Given the description of an element on the screen output the (x, y) to click on. 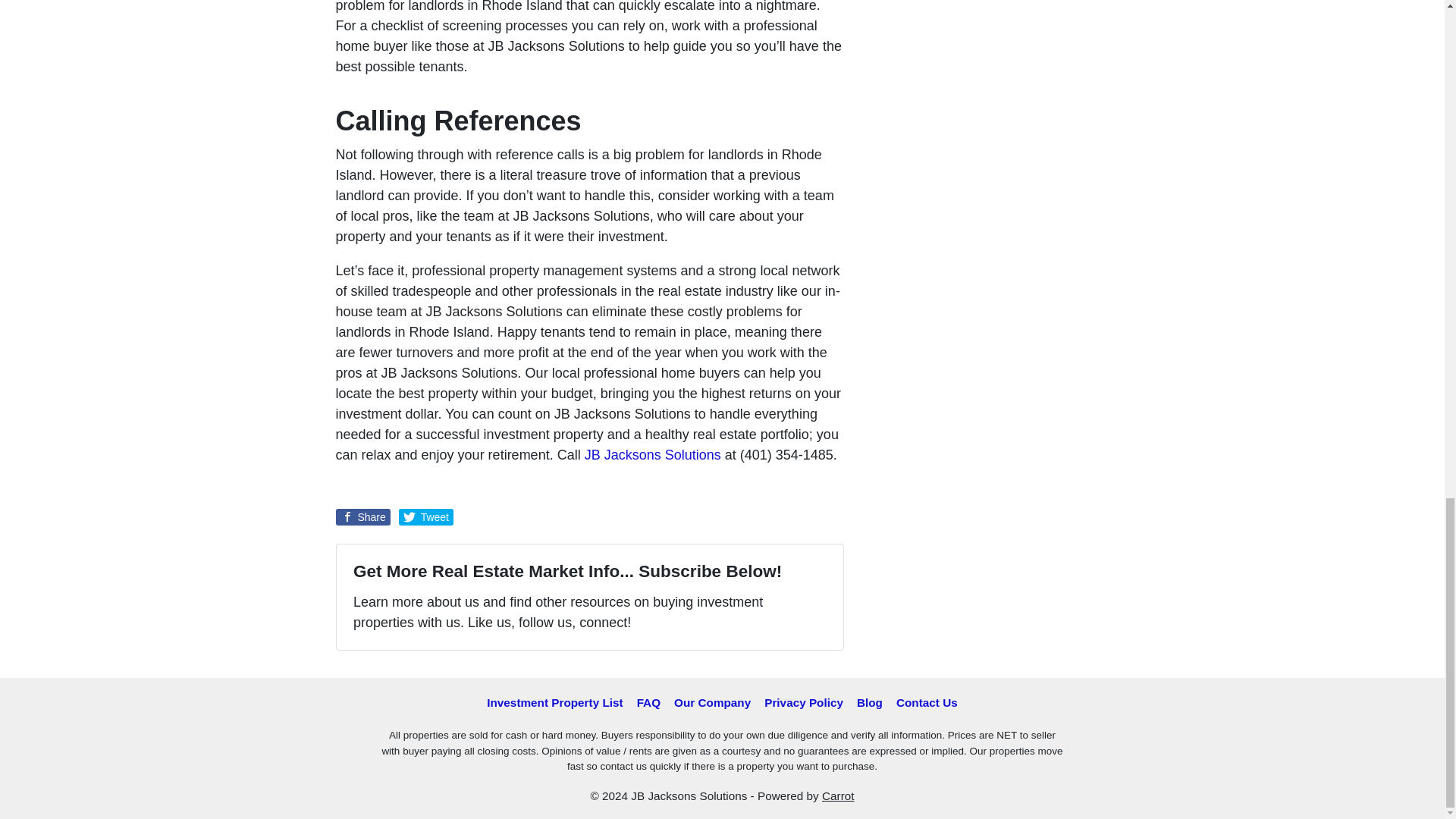
Investment Property List (554, 702)
Share (362, 516)
FAQ (648, 702)
Blog (869, 702)
Share on Facebook (362, 516)
Tweet (425, 516)
JB Jacksons Solutions (652, 454)
Contact Us (926, 702)
Privacy Policy (803, 702)
Our Company (711, 702)
Carrot (838, 795)
Share on Twitter (425, 516)
